Given the description of an element on the screen output the (x, y) to click on. 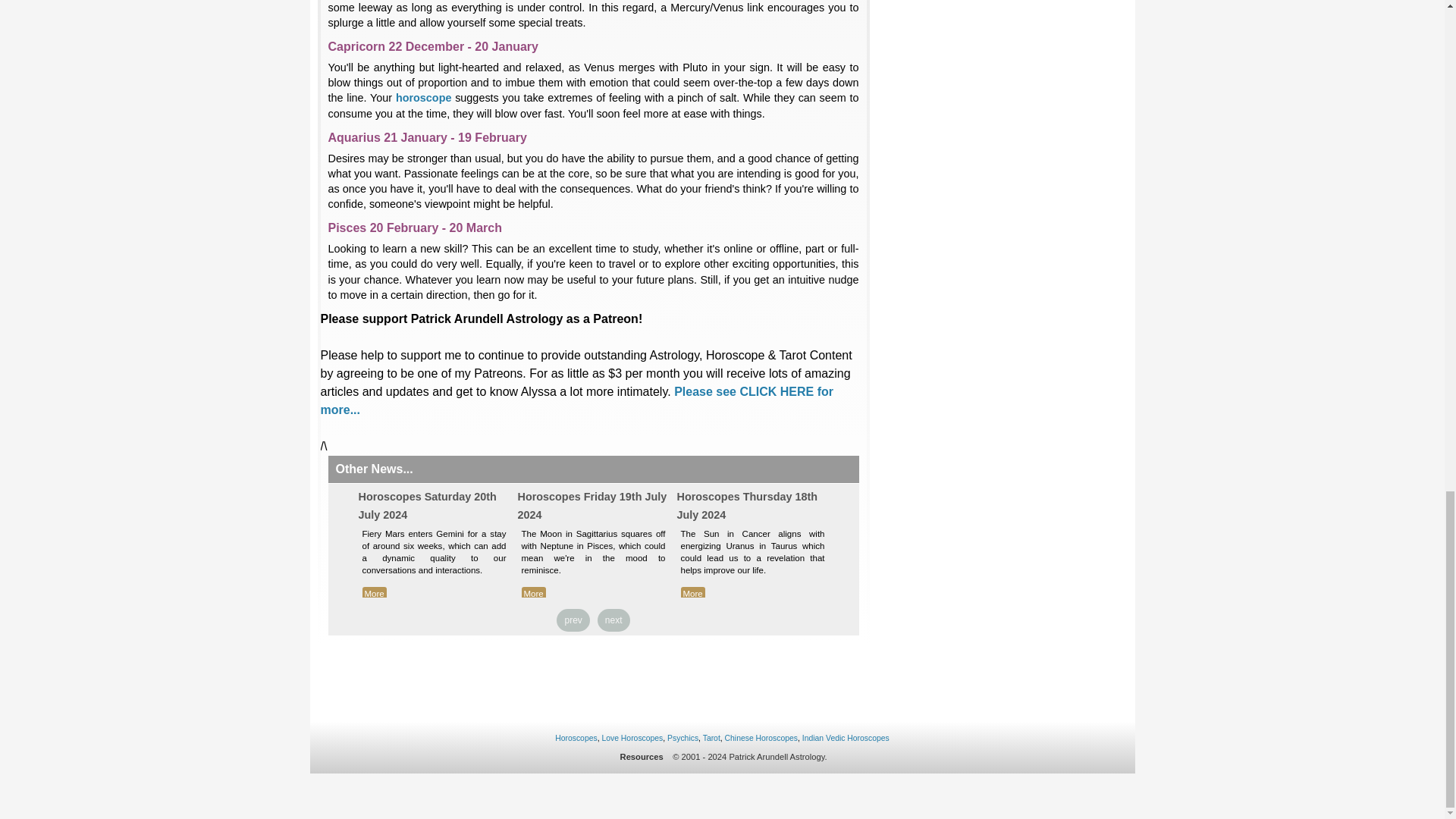
Horoscopes Saturday 20th July 2024 (427, 505)
Horoscopes Thursday 18th July 2024 (746, 505)
Horoscopes Friday 19th July 2024 (591, 505)
